Given the description of an element on the screen output the (x, y) to click on. 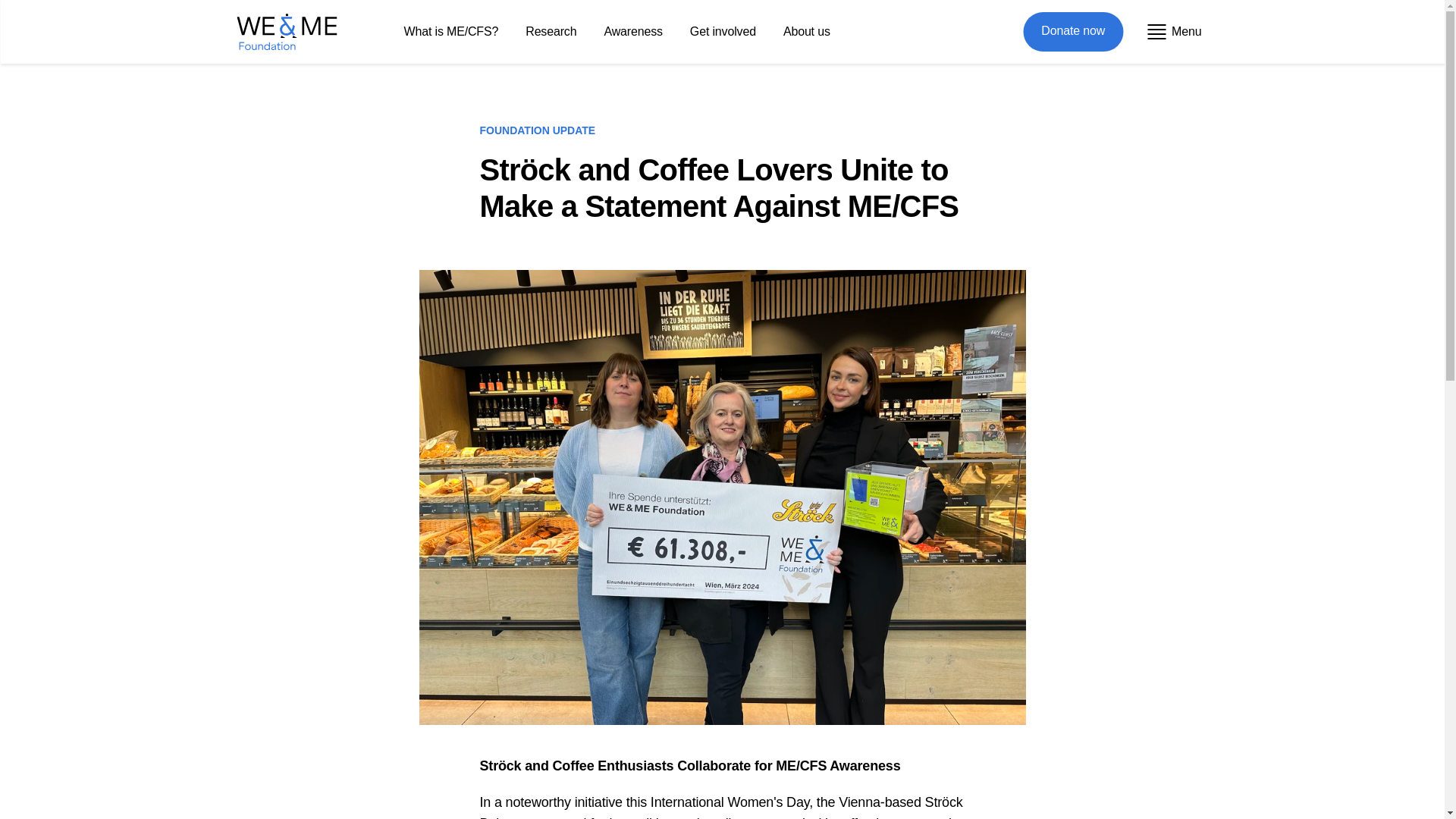
Research (550, 31)
About us (806, 31)
Awareness (632, 31)
Get involved (722, 31)
Donate now (1072, 31)
